Given the description of an element on the screen output the (x, y) to click on. 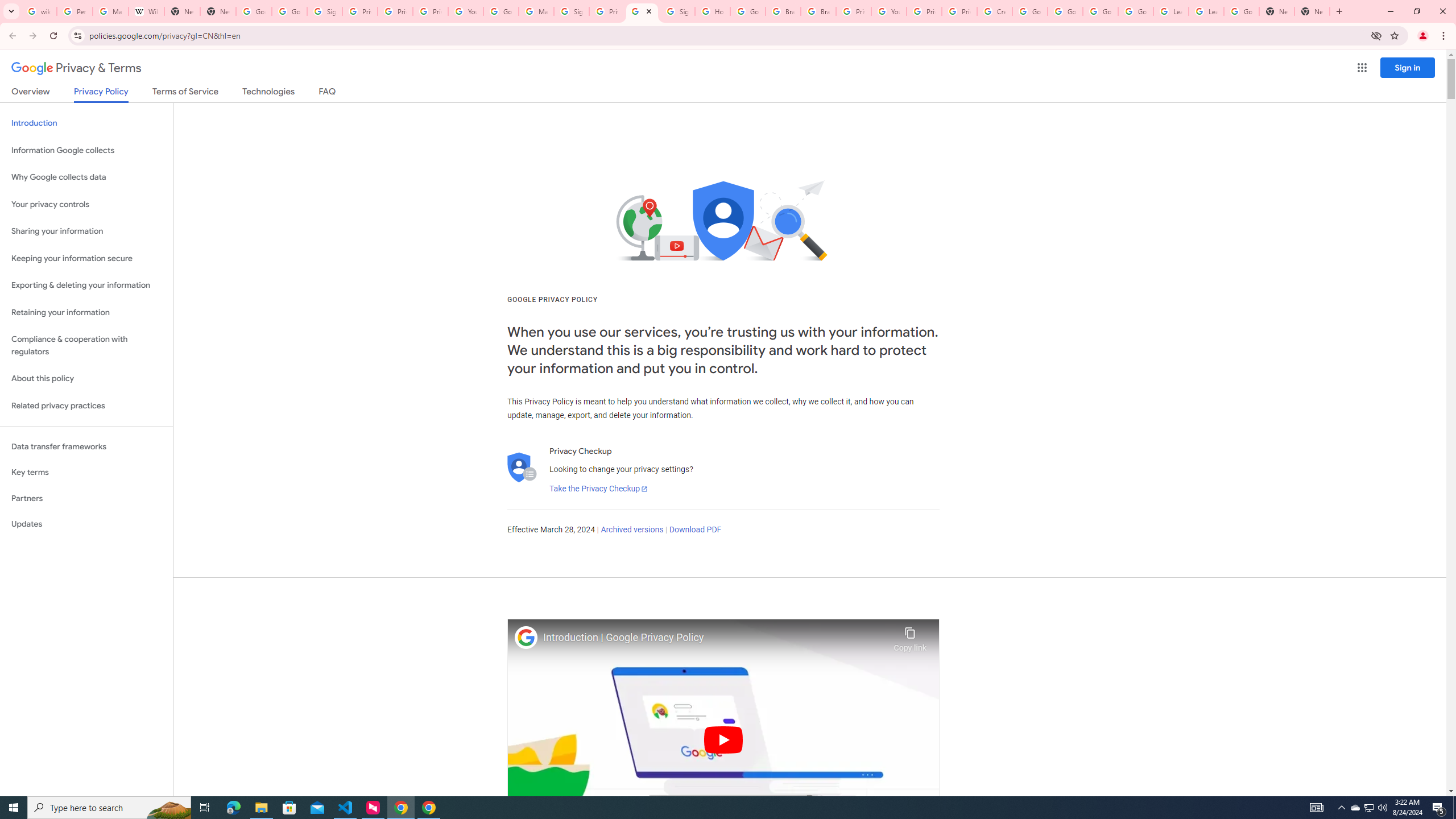
Copy link (909, 636)
Create your Google Account (994, 11)
Related privacy practices (86, 405)
Sign in - Google Accounts (571, 11)
New Tab (218, 11)
